Given the description of an element on the screen output the (x, y) to click on. 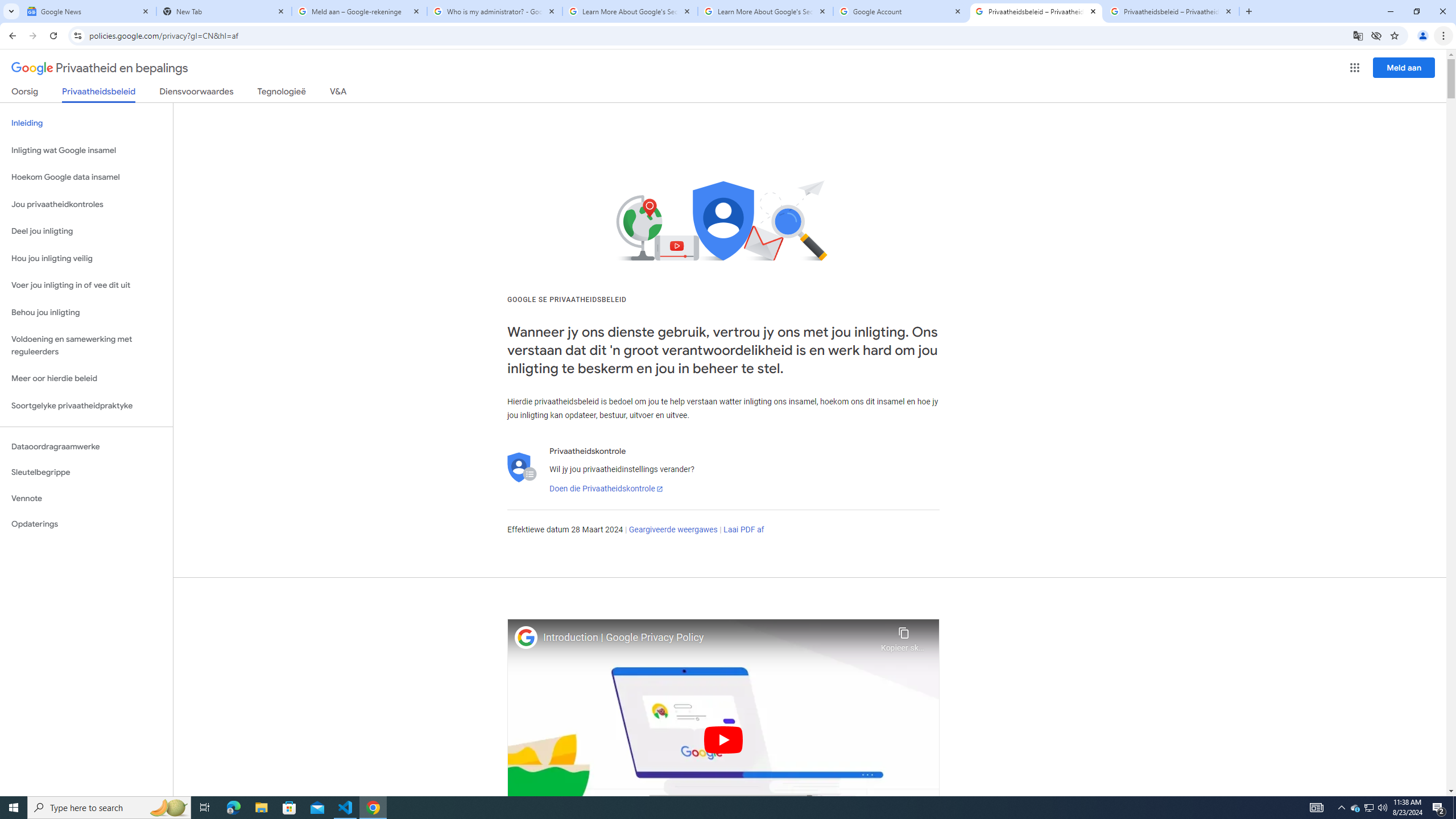
Opdaterings (86, 524)
Privaatheid en bepalings (99, 68)
Google Account (901, 11)
Doen die Privaatheidskontrole (605, 488)
Jou privaatheidkontroles (86, 204)
Dataoordragraamwerke (86, 446)
New Tab (224, 11)
Meld aan (1404, 67)
Fotobeeld van Google (526, 636)
Google-programme (1355, 67)
Privaatheidsbeleid (98, 94)
